Given the description of an element on the screen output the (x, y) to click on. 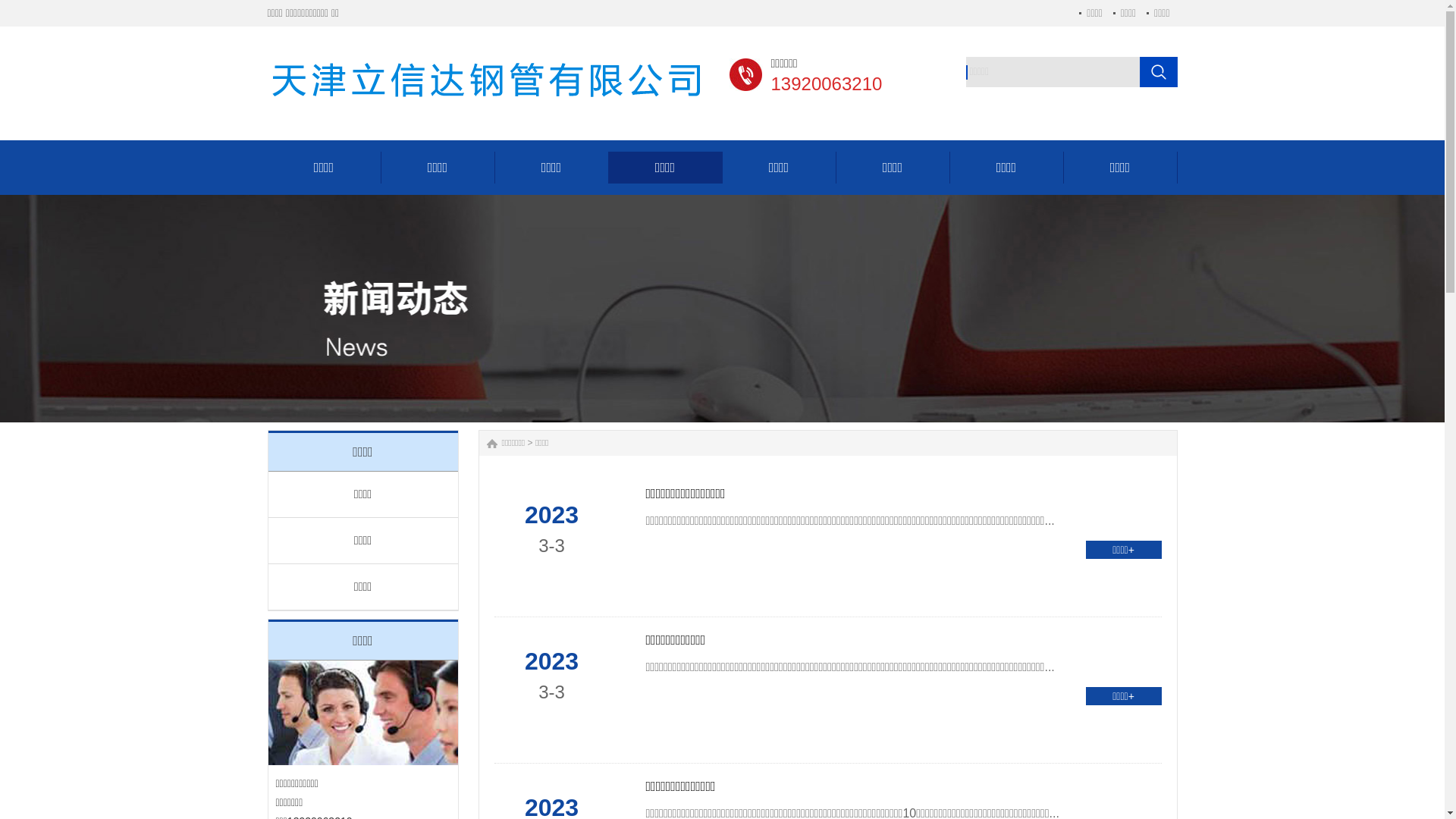
  Element type: text (1158, 71)
